Given the description of an element on the screen output the (x, y) to click on. 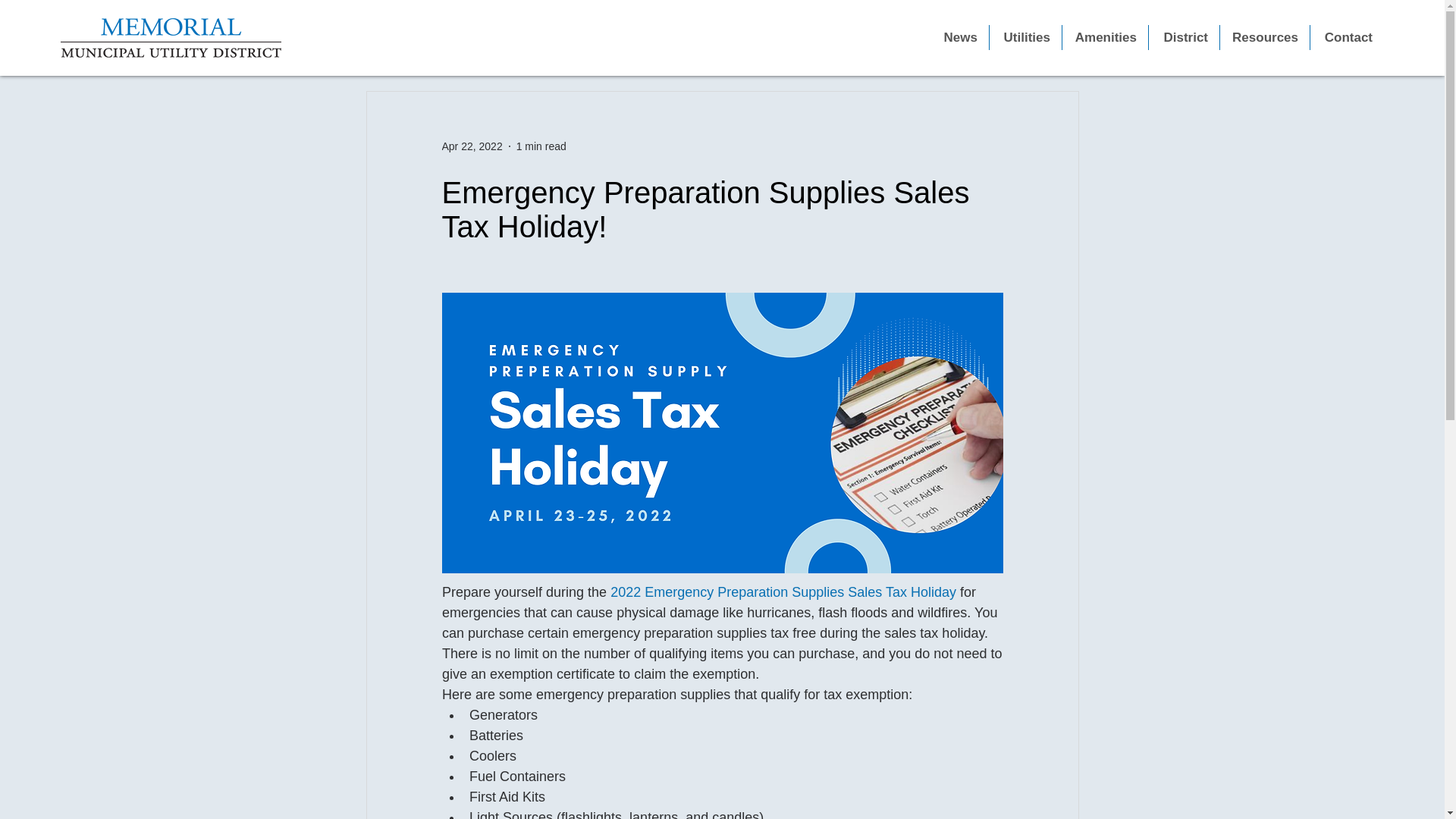
1 min read (541, 145)
News (959, 37)
Apr 22, 2022 (471, 145)
2022 Emergency Preparation Supplies Sales Tax Holiday (783, 591)
